Given the description of an element on the screen output the (x, y) to click on. 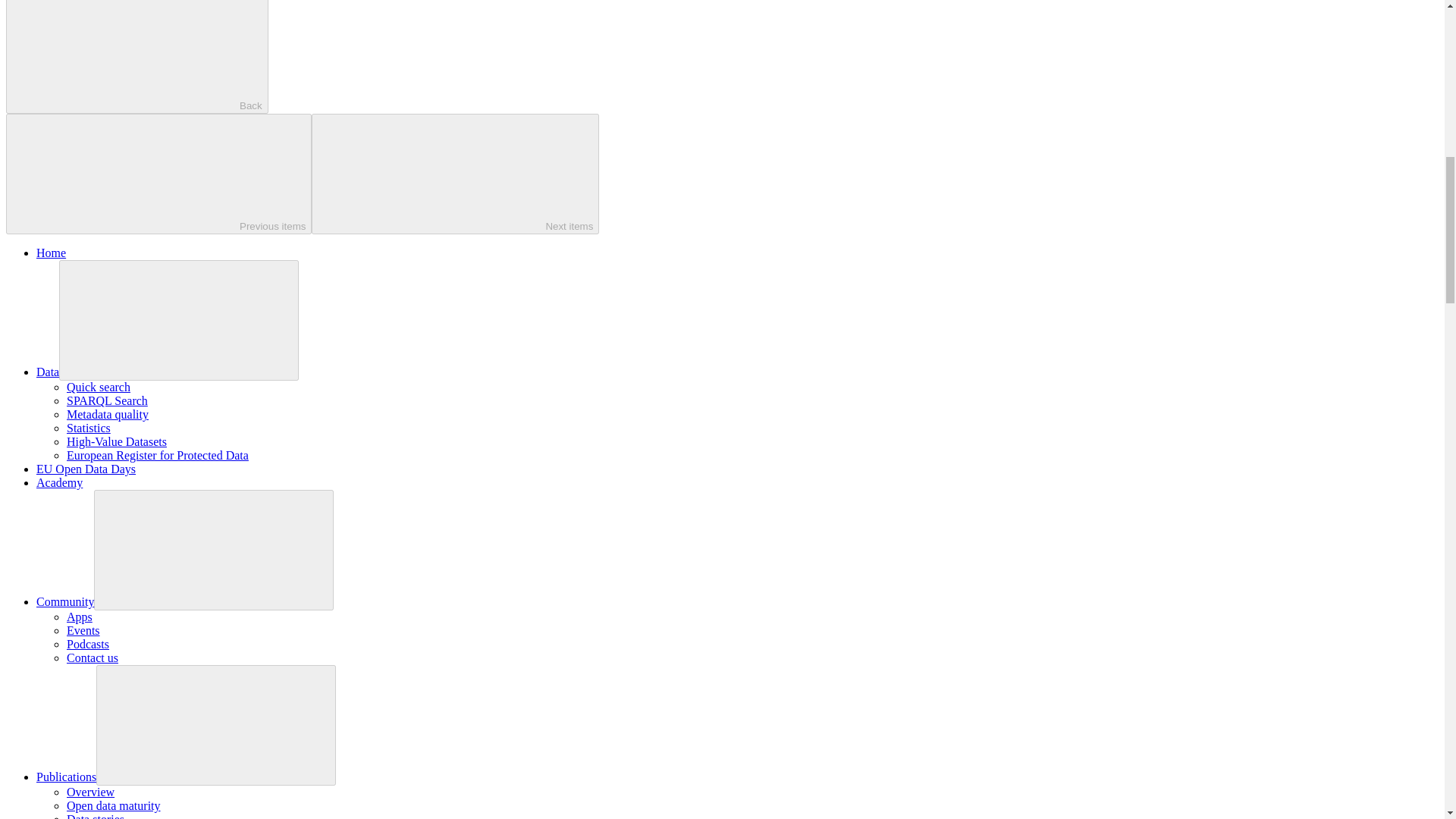
Community (65, 601)
Back (136, 56)
Podcasts (87, 644)
Overview (90, 791)
EU Open Data Days (85, 468)
Events (83, 630)
Open data maturity (113, 805)
Previous items (158, 173)
Publications (66, 776)
Data stories (94, 816)
Statistics (88, 427)
Next items (454, 173)
Apps (79, 616)
High-Value Datasets (116, 440)
European Register for Protected Data (157, 454)
